Given the description of an element on the screen output the (x, y) to click on. 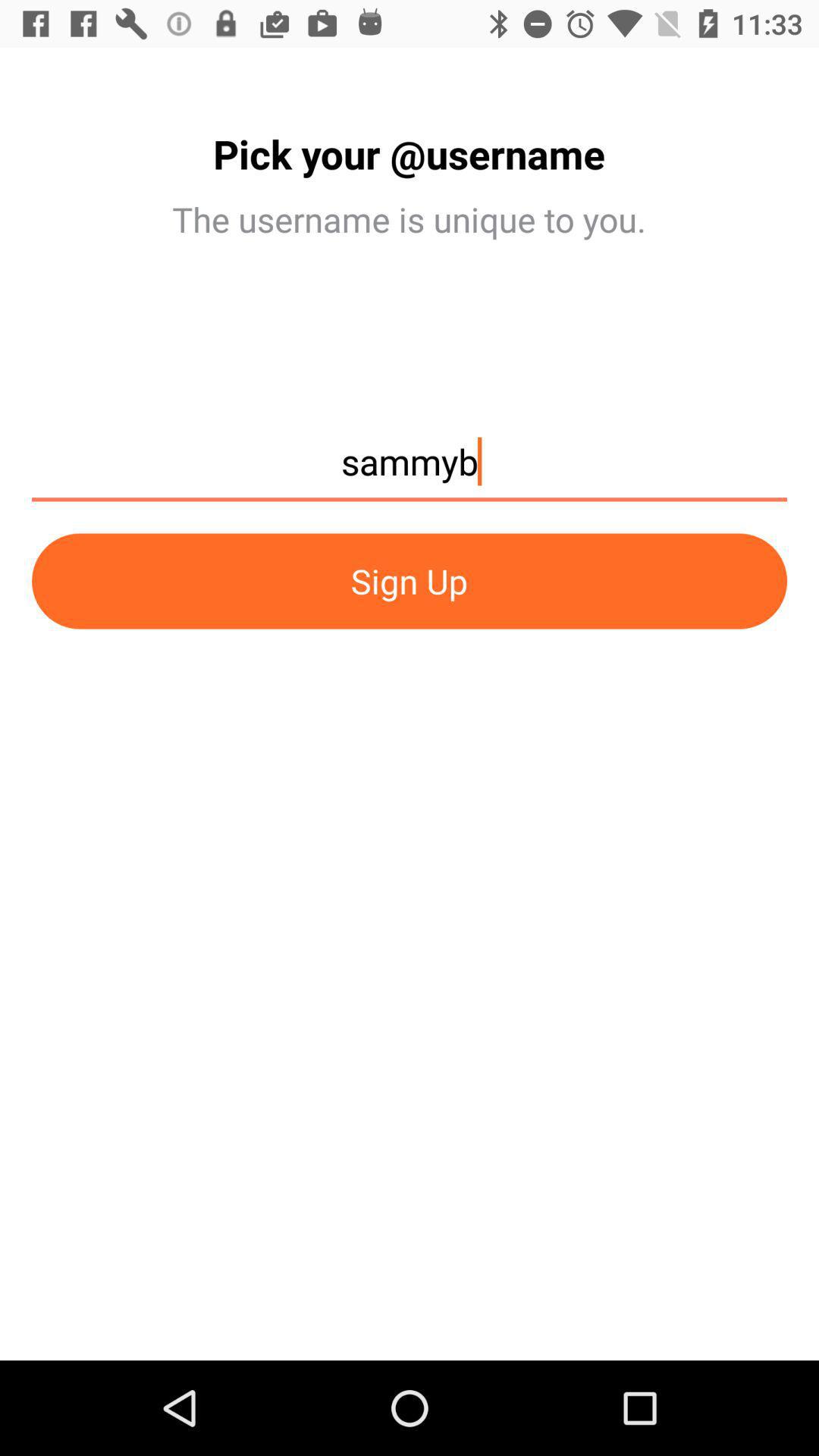
turn on item below the the username is (409, 469)
